Given the description of an element on the screen output the (x, y) to click on. 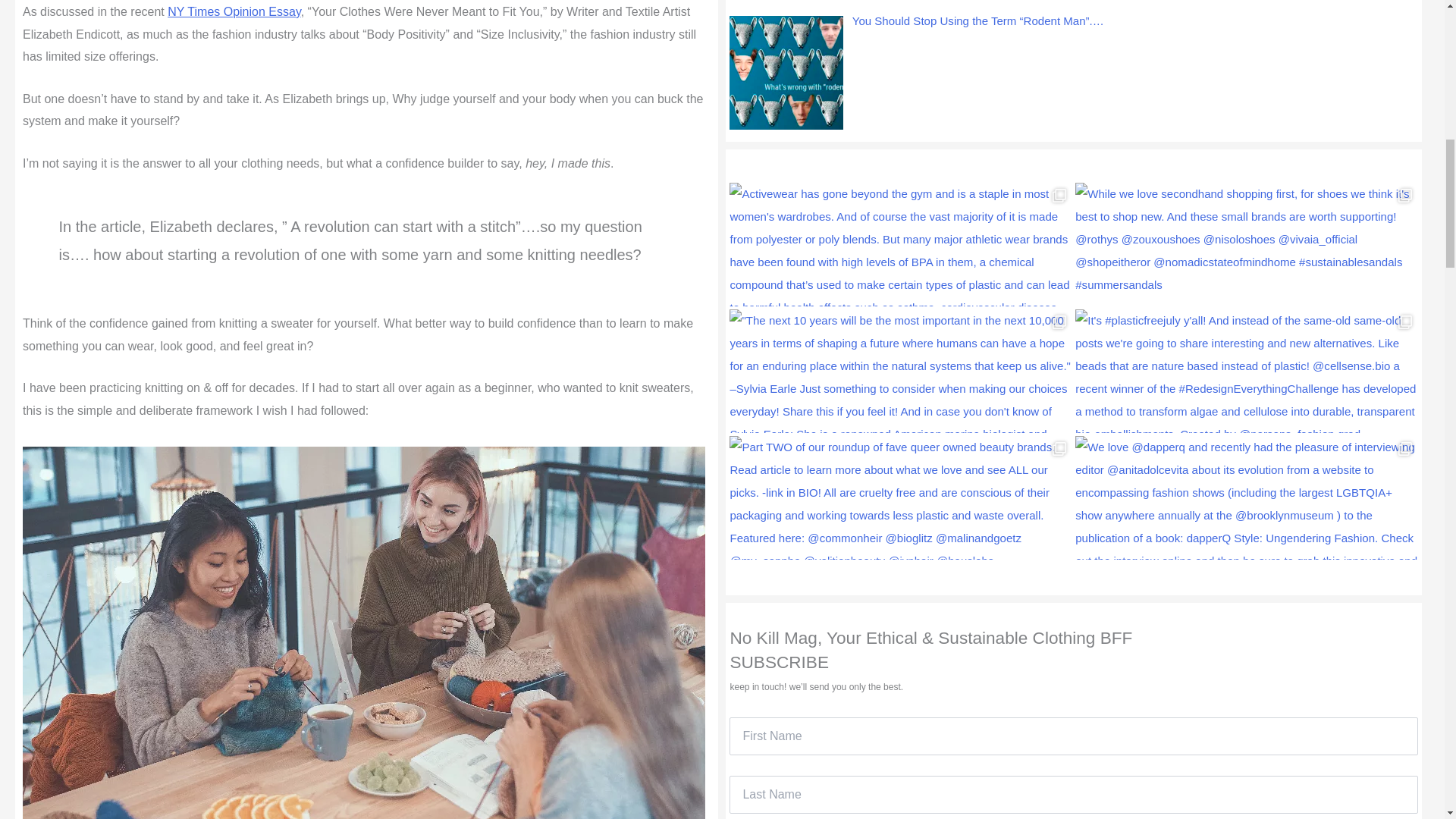
NY Times Opinion Essay (233, 11)
